Given the description of an element on the screen output the (x, y) to click on. 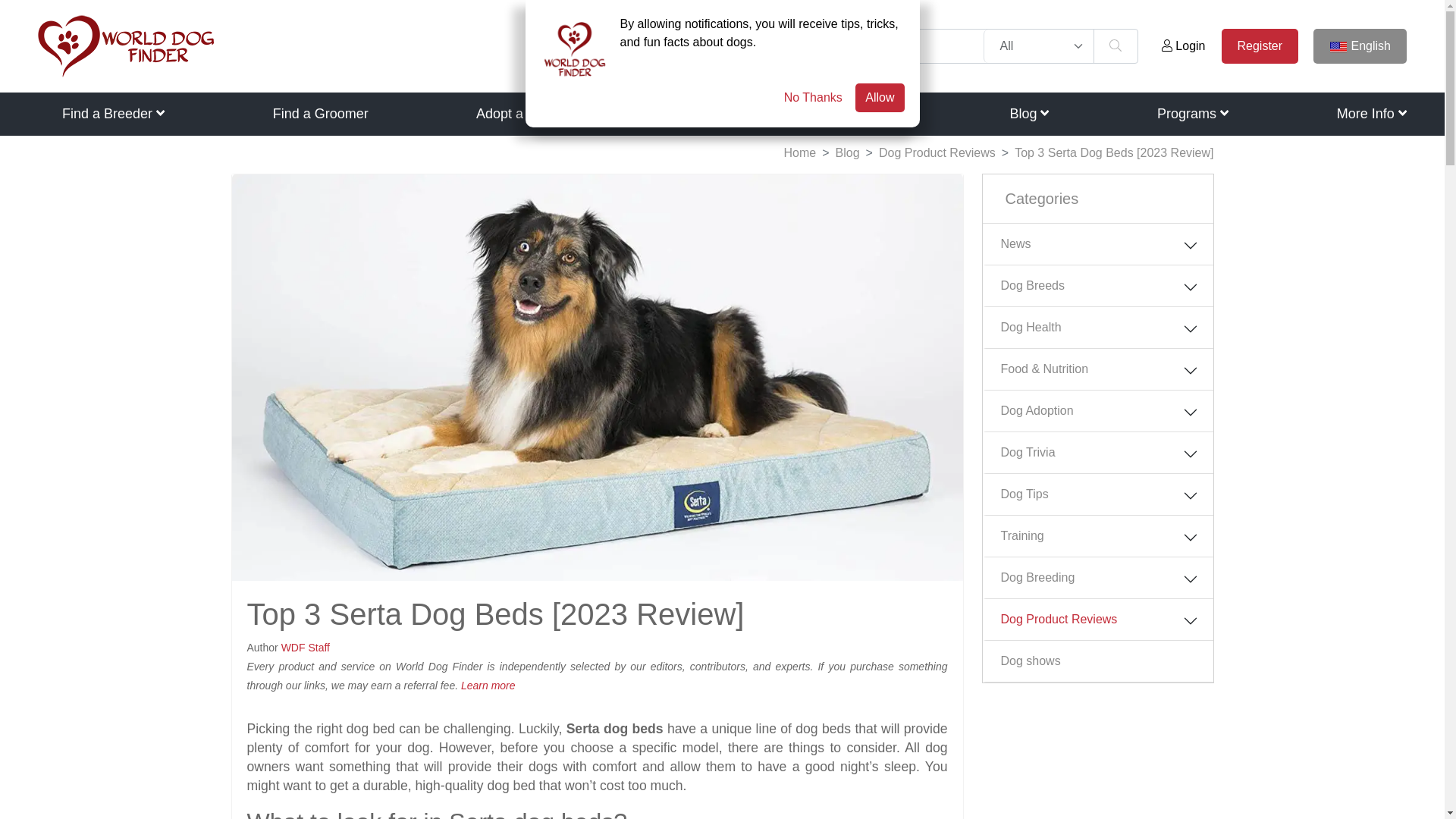
Find a Groomer (320, 113)
English (1359, 45)
Blog (1028, 113)
Login (1183, 45)
Dog Breeds (701, 113)
Register (1259, 45)
Quizzes (876, 113)
Adopt a Dog (513, 113)
Find a Breeder (113, 113)
